Given the description of an element on the screen output the (x, y) to click on. 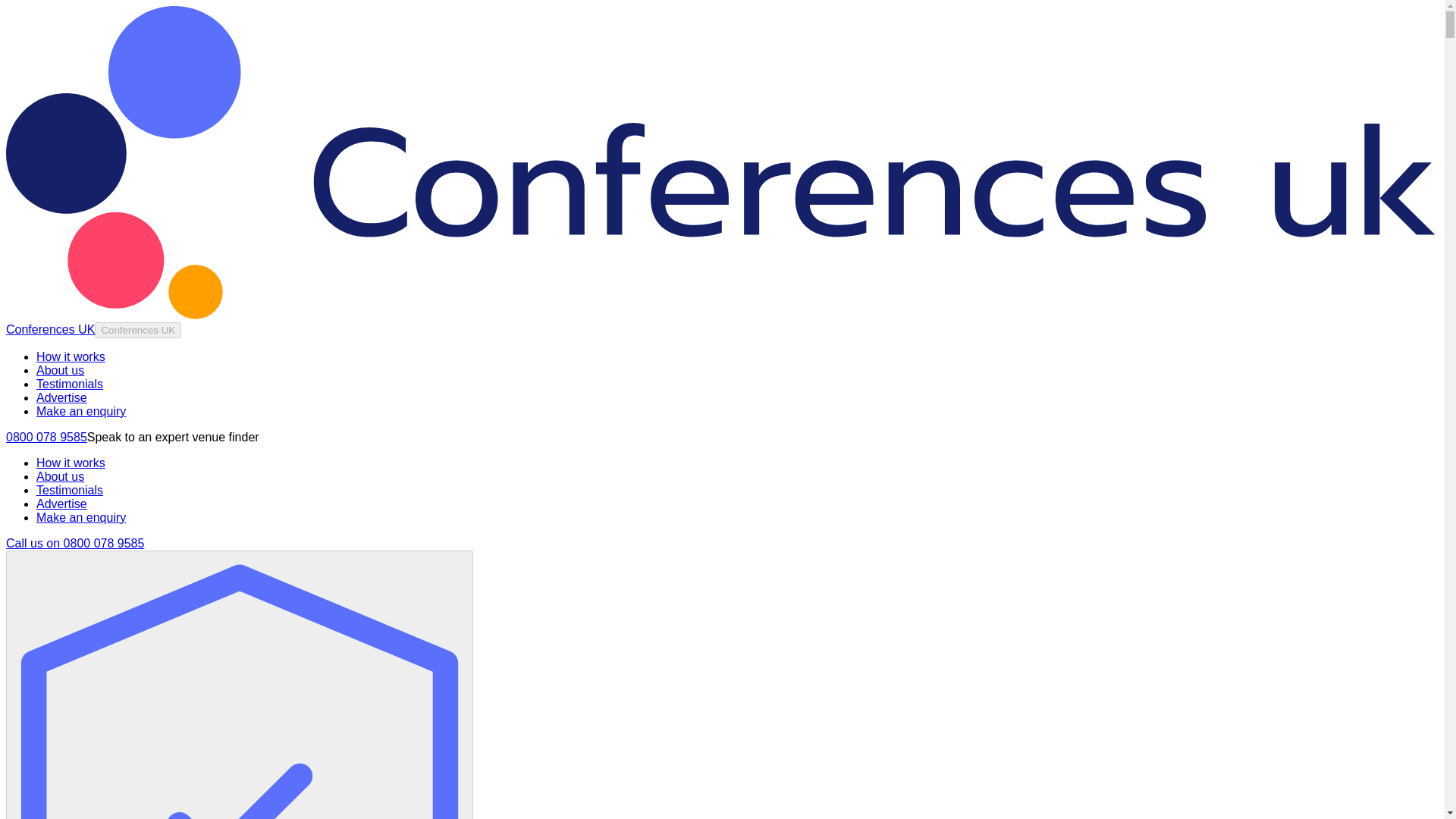
Advertise (61, 397)
Make an enquiry (80, 410)
About us (60, 369)
Conferences UK (137, 330)
Make an enquiry (80, 517)
About us (60, 476)
Testimonials (69, 383)
How it works (70, 462)
How it works (70, 356)
Testimonials (69, 490)
Advertise (61, 503)
0800 078 9585 (46, 436)
Call us on 0800 078 9585 (74, 543)
